Given the description of an element on the screen output the (x, y) to click on. 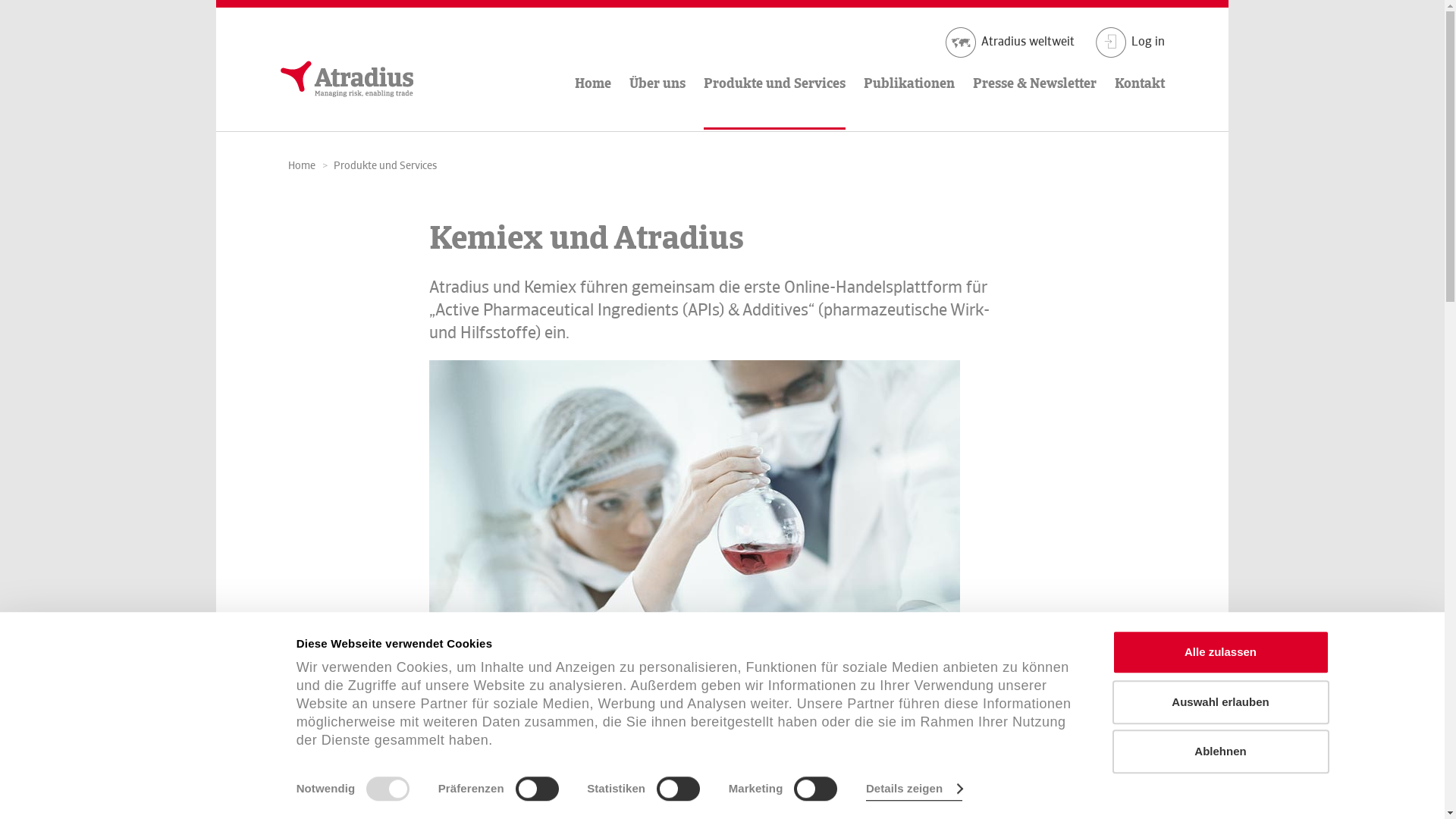
Publikationen Element type: text (908, 64)
Home Element type: text (592, 64)
Produkte und Services Element type: text (774, 78)
Auswahl erlauben Element type: text (1219, 702)
Produkte und Services Element type: text (384, 165)
Details zeigen Element type: text (914, 789)
Alle zulassen Element type: text (1219, 652)
Home Element type: text (301, 165)
Kontakt Element type: text (1139, 64)
Log in Element type: text (1129, 41)
Presse & Newsletter Element type: text (1034, 64)
Atradius weltweit Element type: text (1008, 41)
Ablehnen Element type: text (1219, 751)
